Given the description of an element on the screen output the (x, y) to click on. 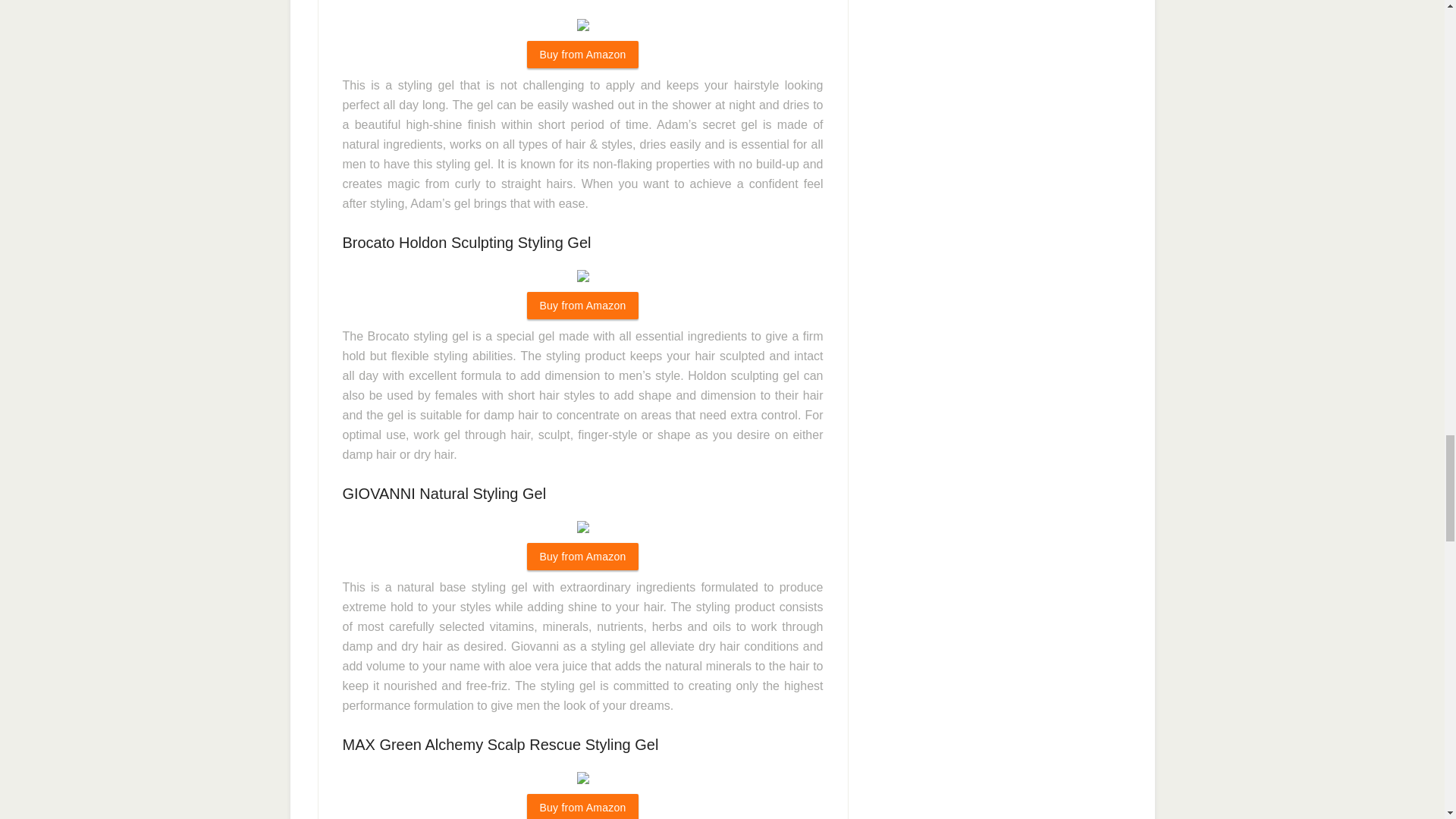
Buy from Amazon (582, 556)
Buy from Amazon (582, 305)
Buy from Amazon (582, 53)
